Given the description of an element on the screen output the (x, y) to click on. 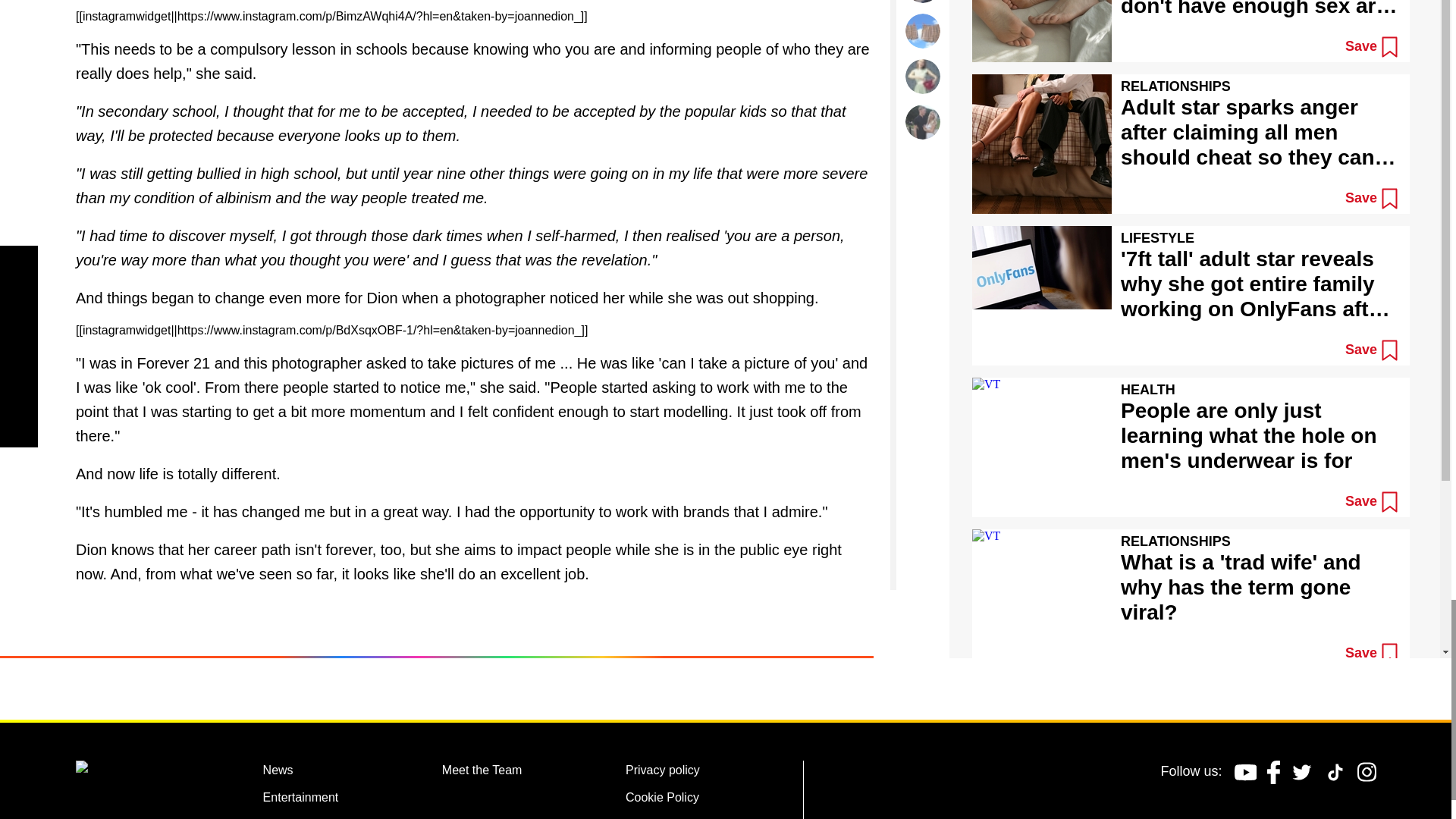
Lifestyle (285, 818)
Privacy policy (663, 772)
Cookie Policy (662, 799)
News (278, 772)
Entertainment (301, 799)
Meet the Team (482, 772)
